Given the description of an element on the screen output the (x, y) to click on. 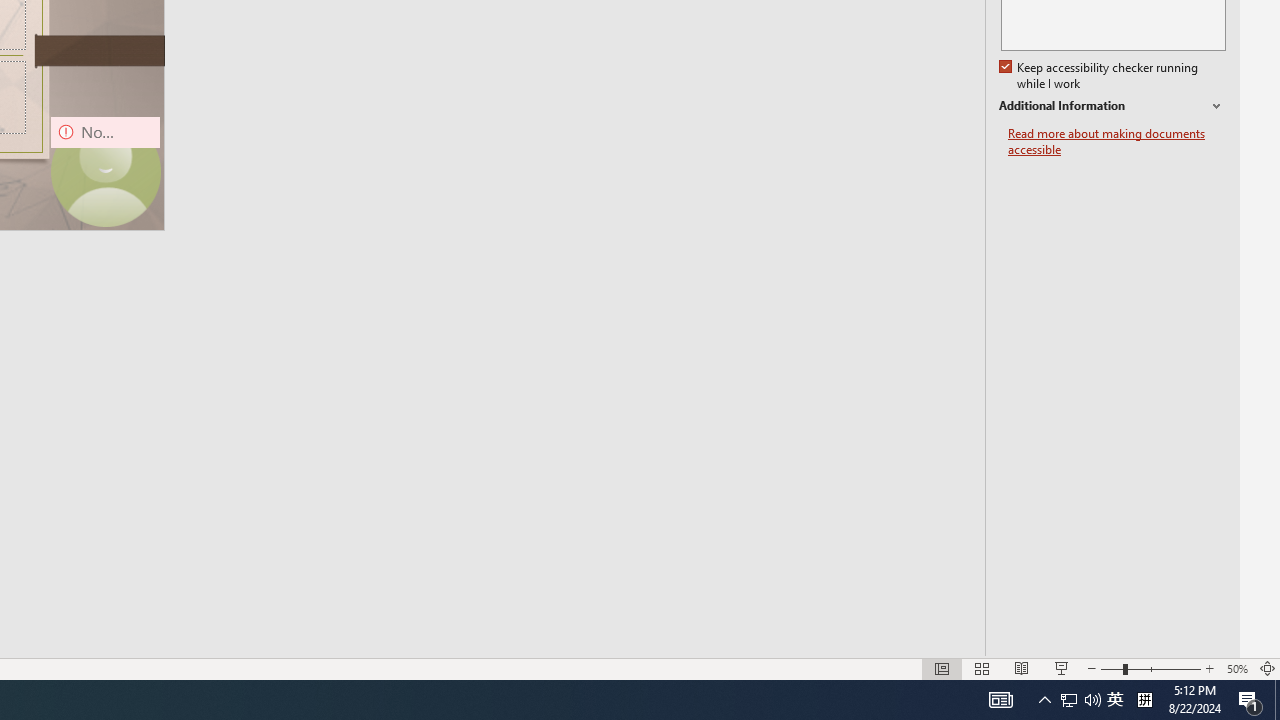
Additional Information (1112, 106)
Camera 9, No camera detected. (105, 171)
Keep accessibility checker running while I work (1099, 76)
Read more about making documents accessible (1117, 142)
Zoom 50% (1236, 668)
